Given the description of an element on the screen output the (x, y) to click on. 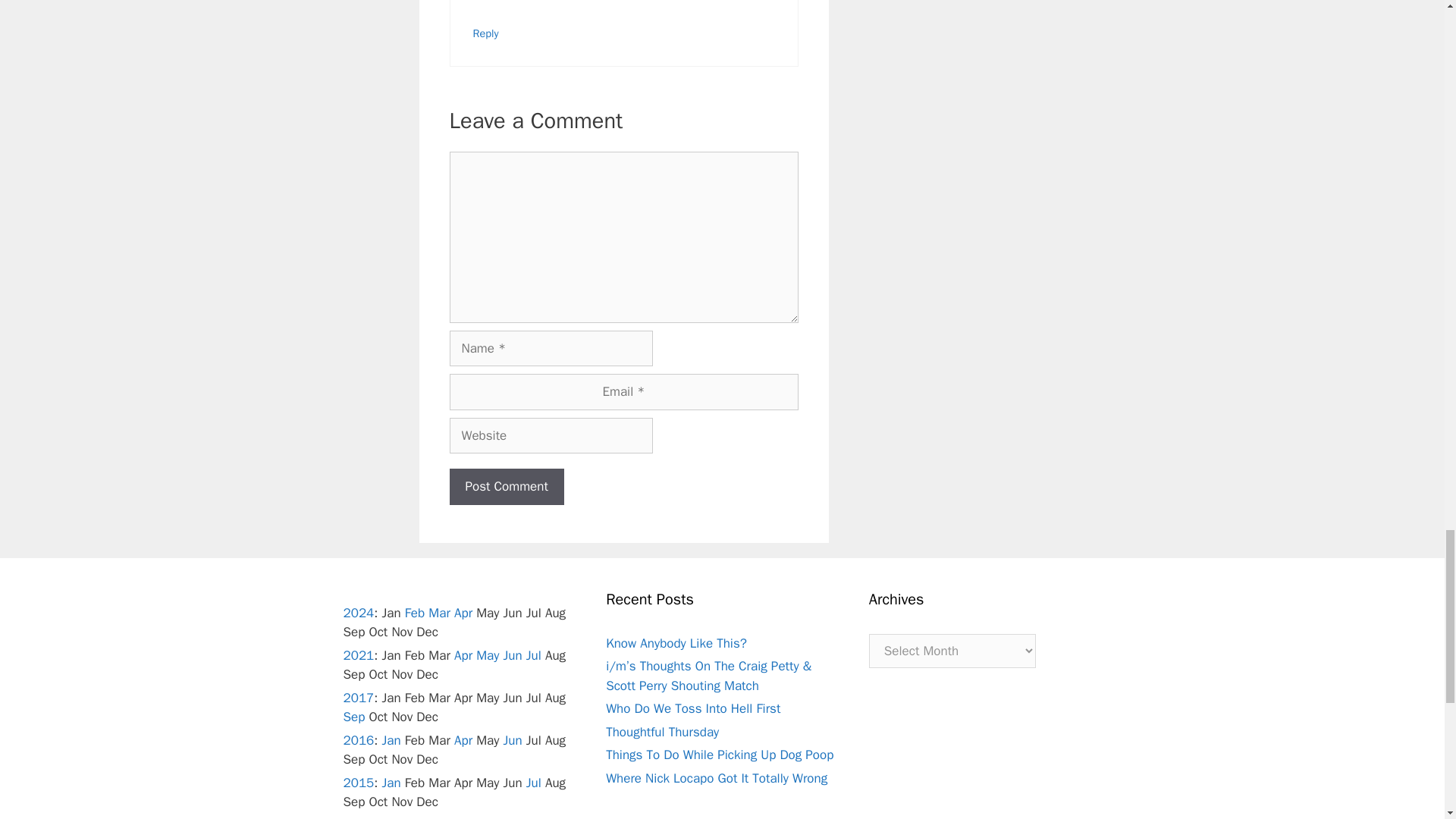
Reply (486, 33)
Post Comment (505, 486)
Post Comment (505, 486)
